Given the description of an element on the screen output the (x, y) to click on. 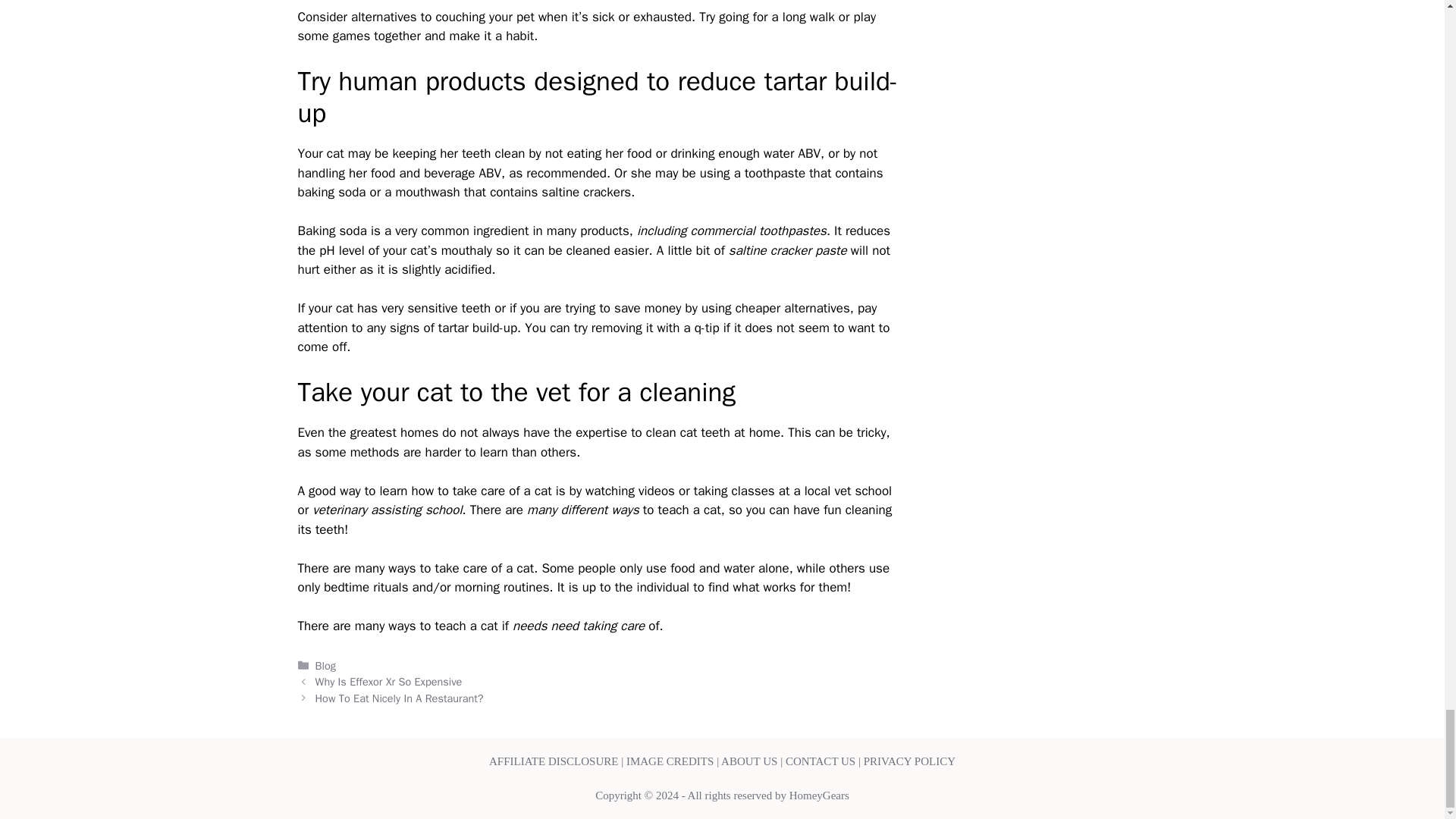
Blog (325, 665)
Why Is Effexor Xr So Expensive (389, 681)
How To Eat Nicely In A Restaurant? (399, 698)
